Given the description of an element on the screen output the (x, y) to click on. 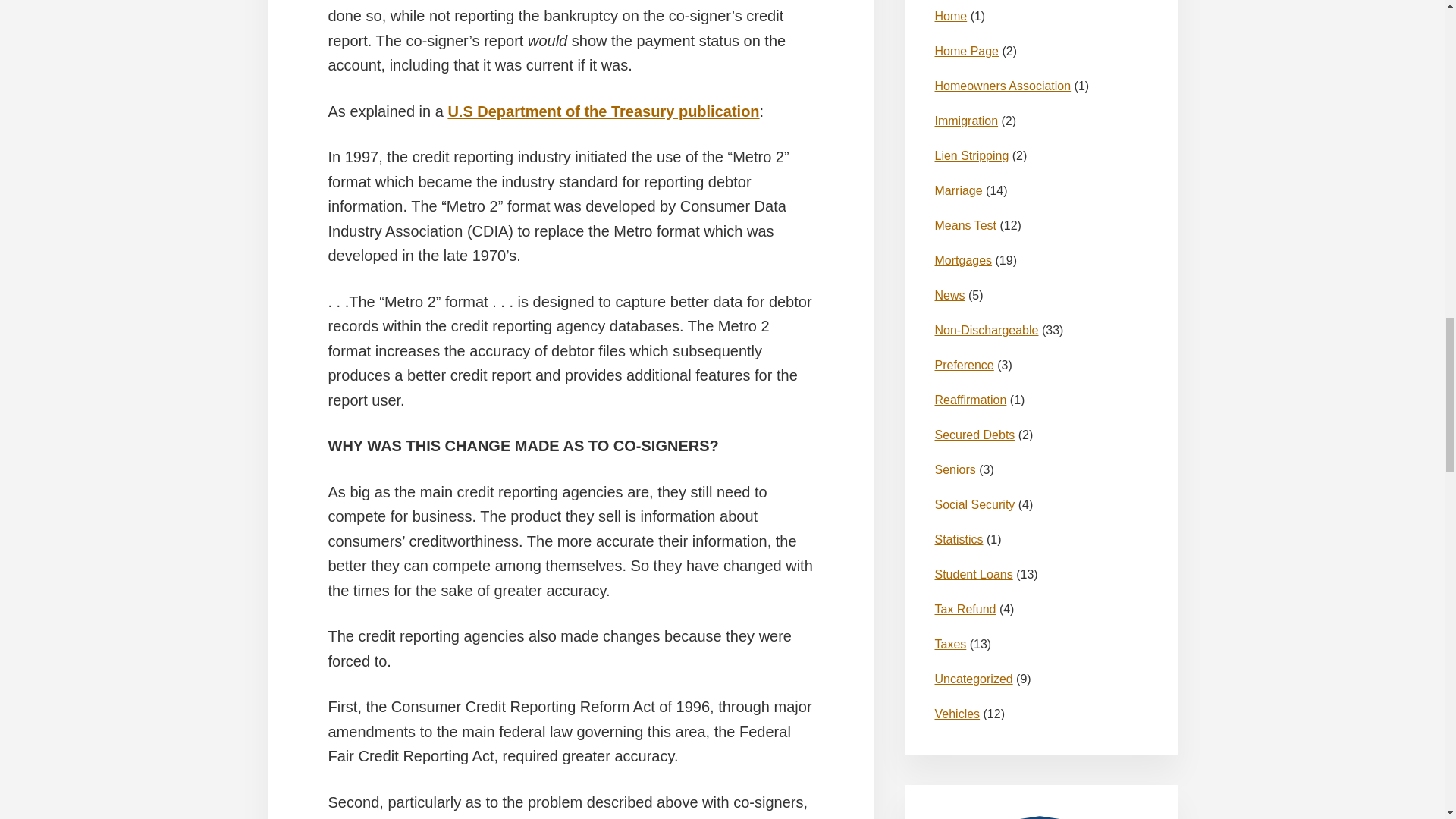
U.S Department of the Treasury publication (1040, 816)
